Given the description of an element on the screen output the (x, y) to click on. 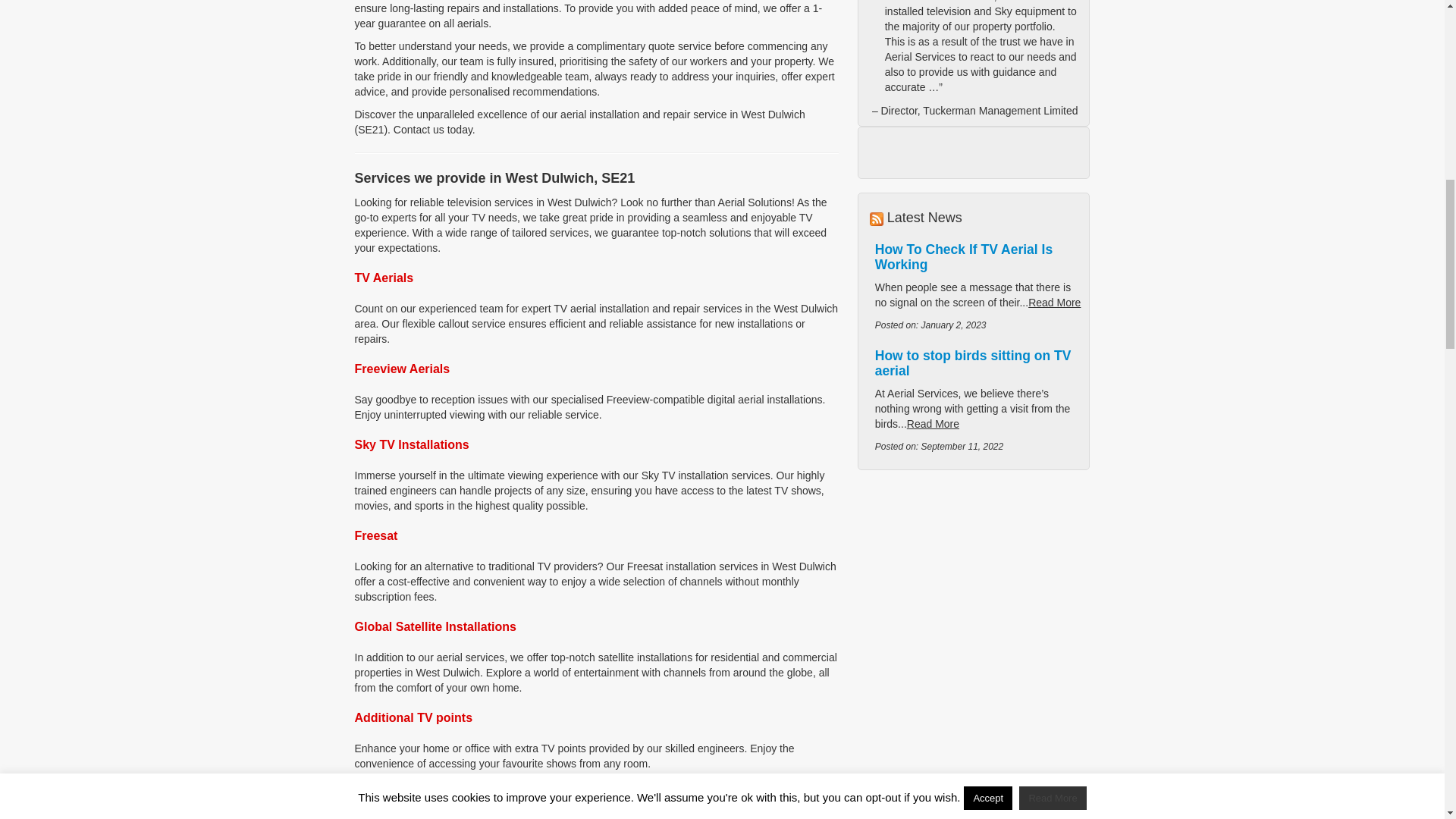
Facebook (885, 486)
Read More (933, 423)
How To Check If TV Aerial Is Working (963, 256)
Read More (1053, 302)
How to stop birds sitting on TV aerial (973, 363)
Permanent Link to How To Check If TV Aerial Is Working (963, 256)
Permanent Link to How to stop birds sitting on TV aerial (973, 363)
